Given the description of an element on the screen output the (x, y) to click on. 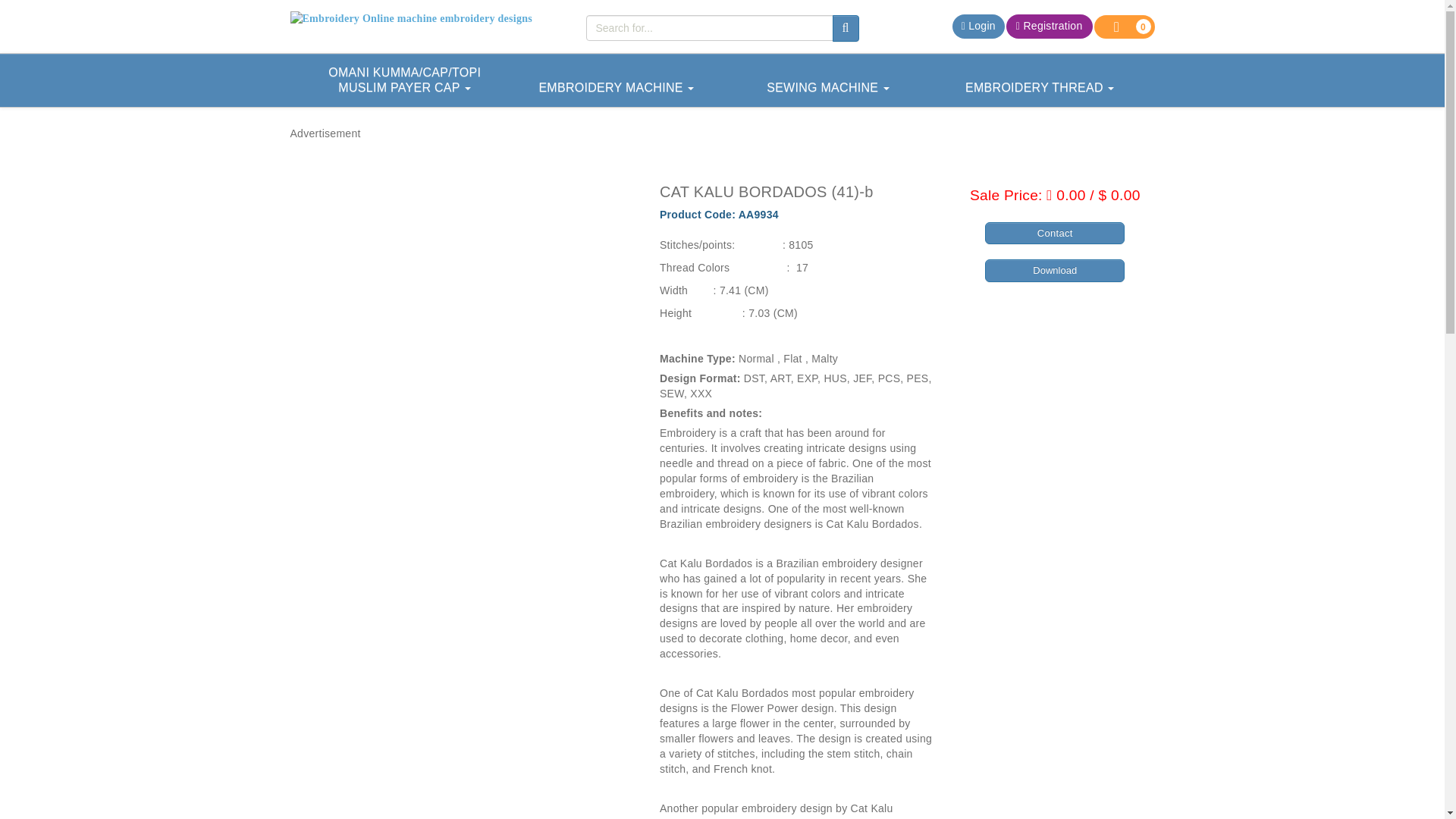
Registration (1049, 26)
Embroidery Online machine embroidery designs (425, 18)
Login (978, 26)
